Given the description of an element on the screen output the (x, y) to click on. 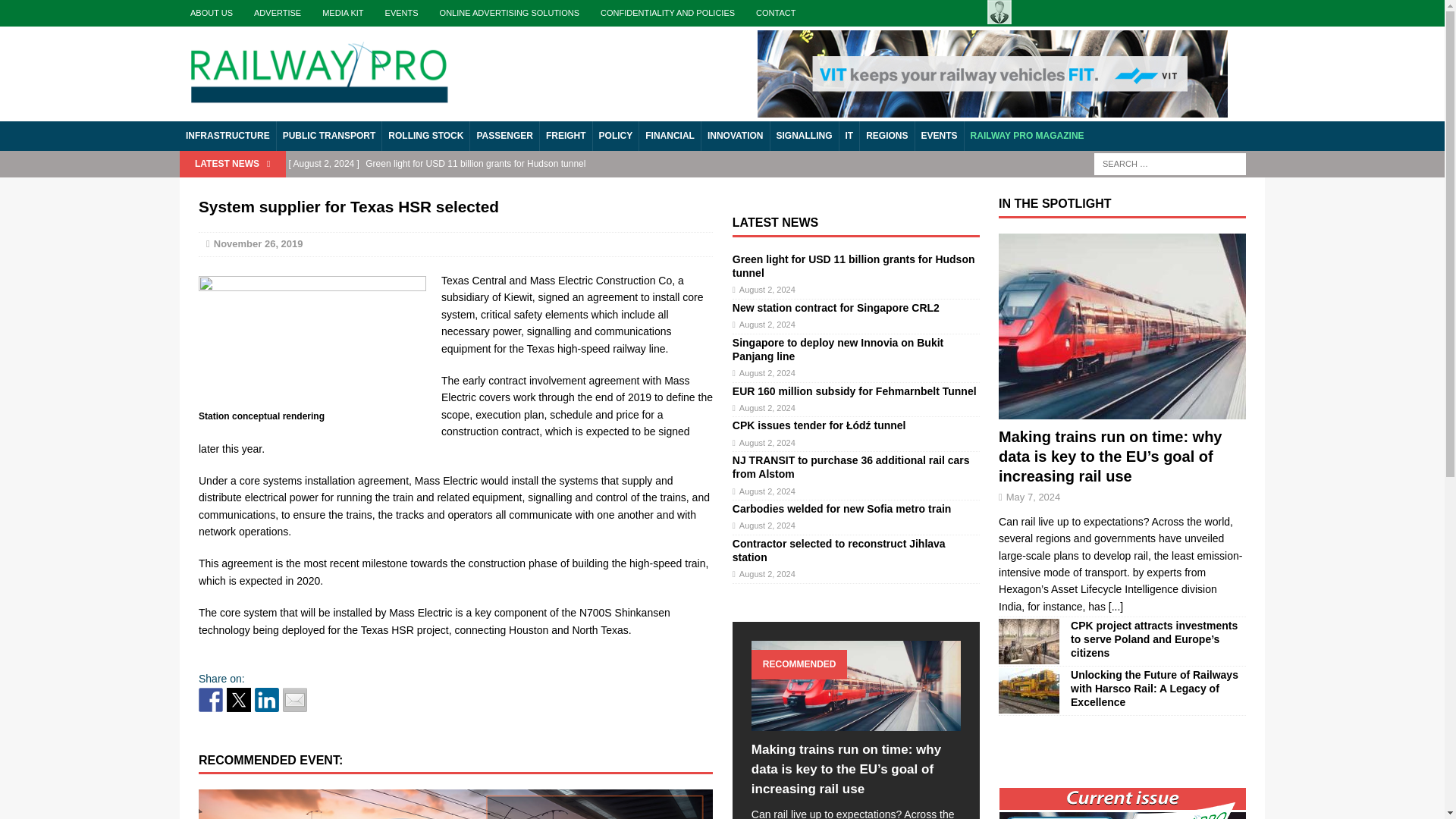
Share on Twitter (238, 699)
ROLLING STOCK (424, 135)
PASSENGER (503, 135)
POLICY (615, 135)
PUBLIC TRANSPORT (328, 135)
New station contract for Singapore CRL2 (835, 307)
INNOVATION (735, 135)
Green light for USD 11 billion grants for Hudson tunnel (853, 266)
ADVERTISE (277, 13)
Search (37, 11)
FINANCIAL (669, 135)
November 26, 2019 (258, 243)
CONFIDENTIALITY AND POLICIES (667, 13)
REGIONS (886, 135)
Share on Linkedin (266, 699)
